Given the description of an element on the screen output the (x, y) to click on. 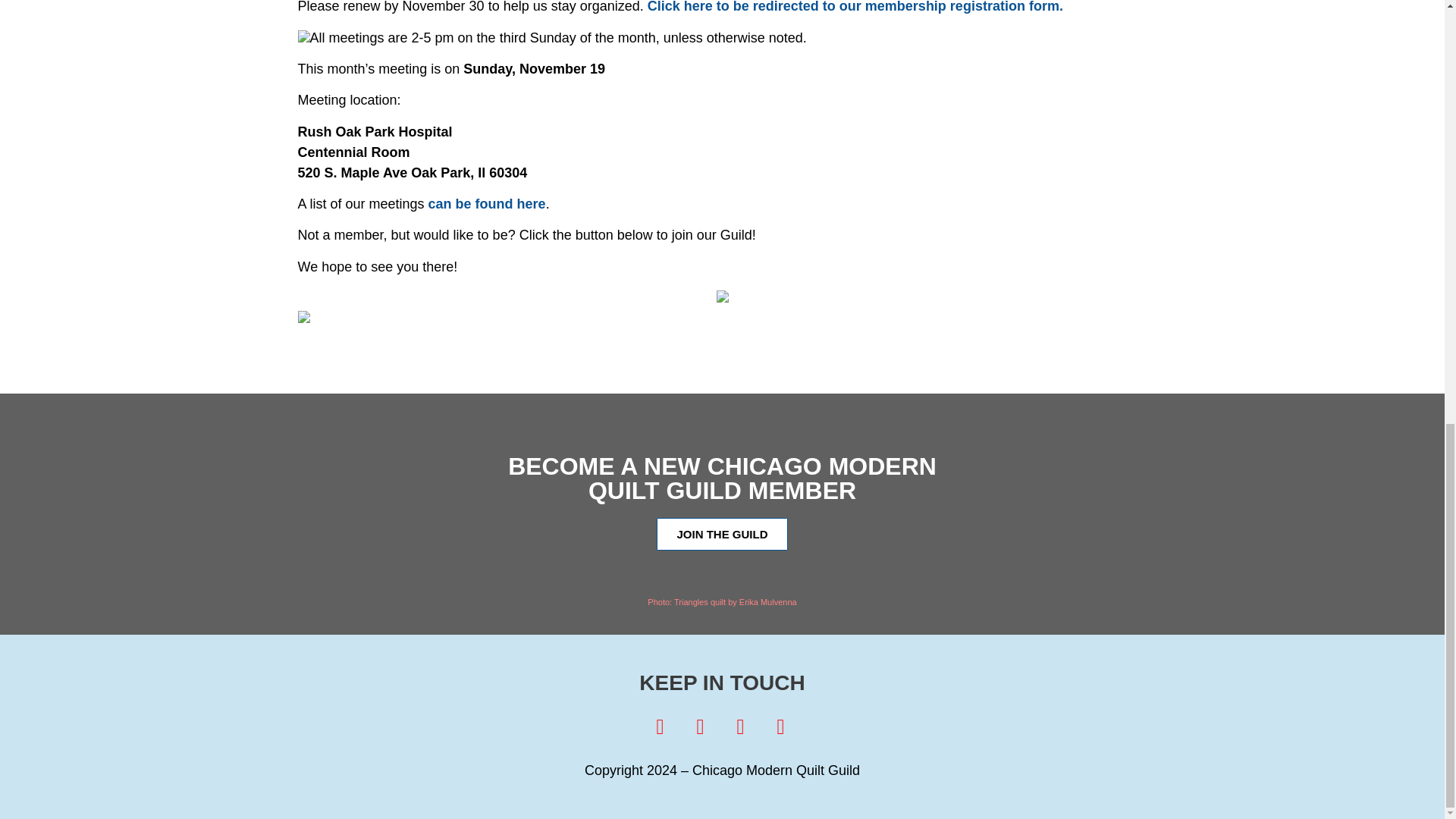
can be found here (487, 203)
JOIN THE GUILD (721, 533)
